Given the description of an element on the screen output the (x, y) to click on. 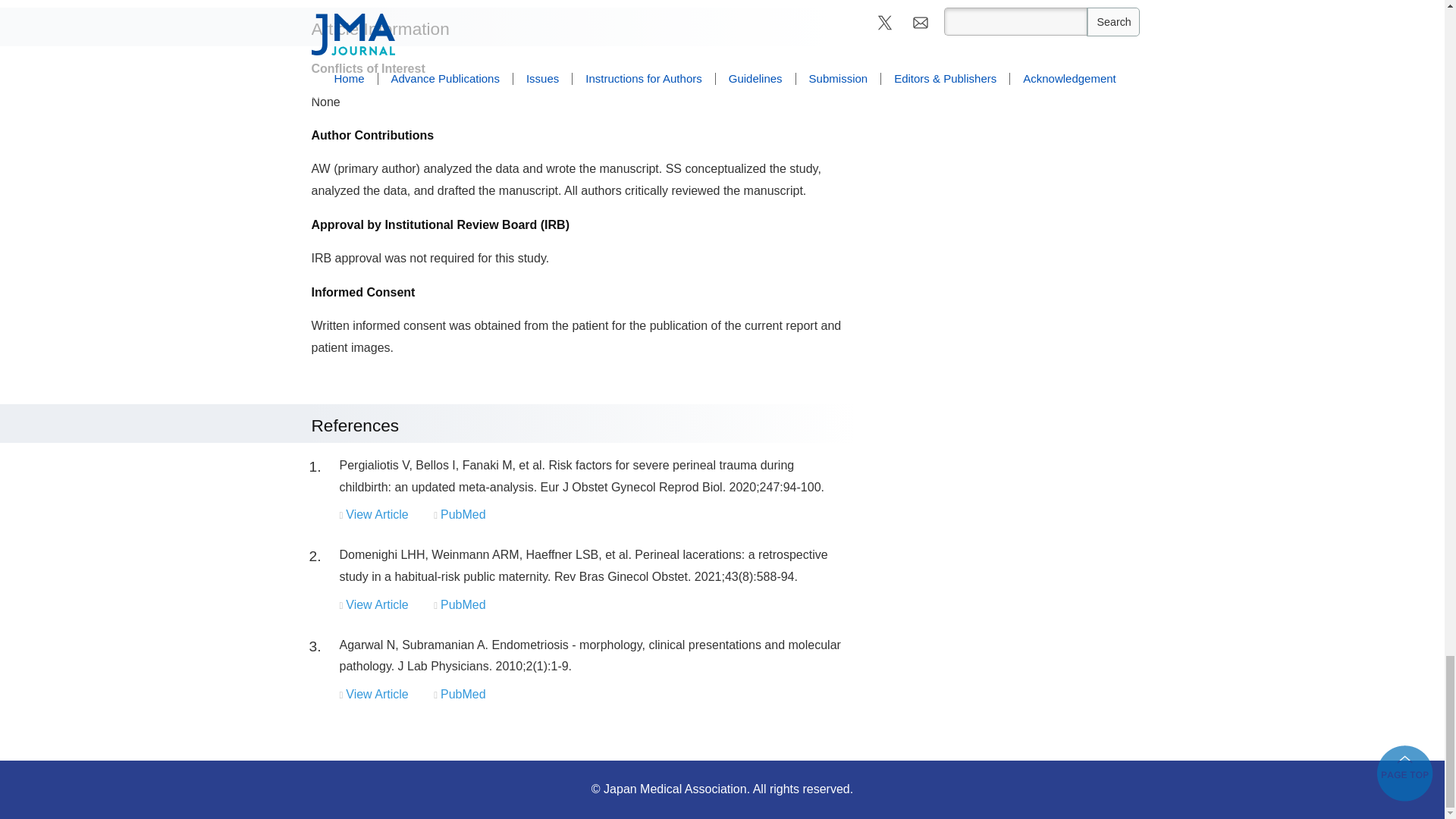
PubMed (463, 513)
View Article (376, 604)
View Article (376, 513)
